Given the description of an element on the screen output the (x, y) to click on. 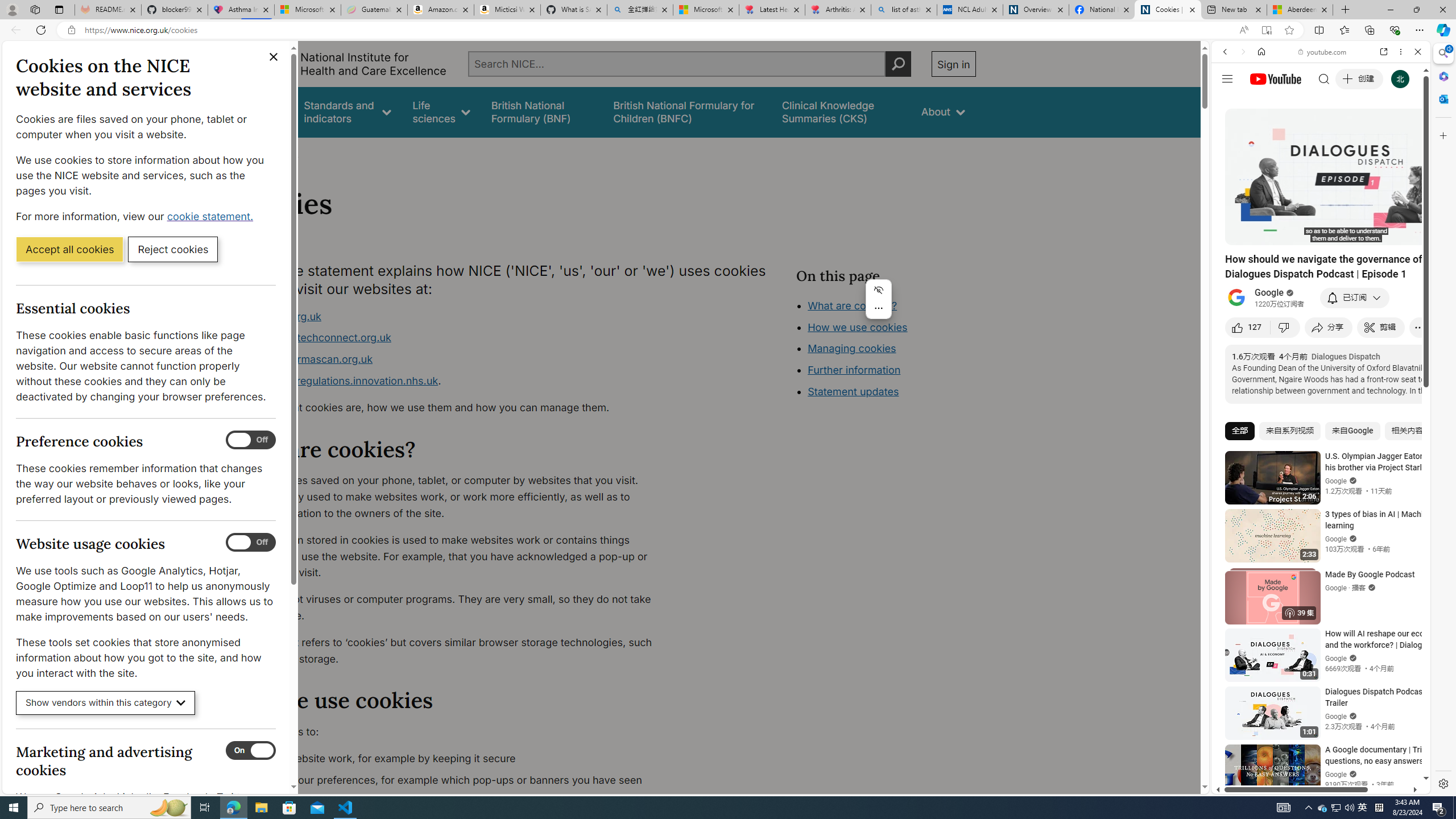
Mini menu on text selection (878, 299)
www.nice.org.uk (279, 315)
cookie statement. (Opens in a new window) (211, 215)
